Given the description of an element on the screen output the (x, y) to click on. 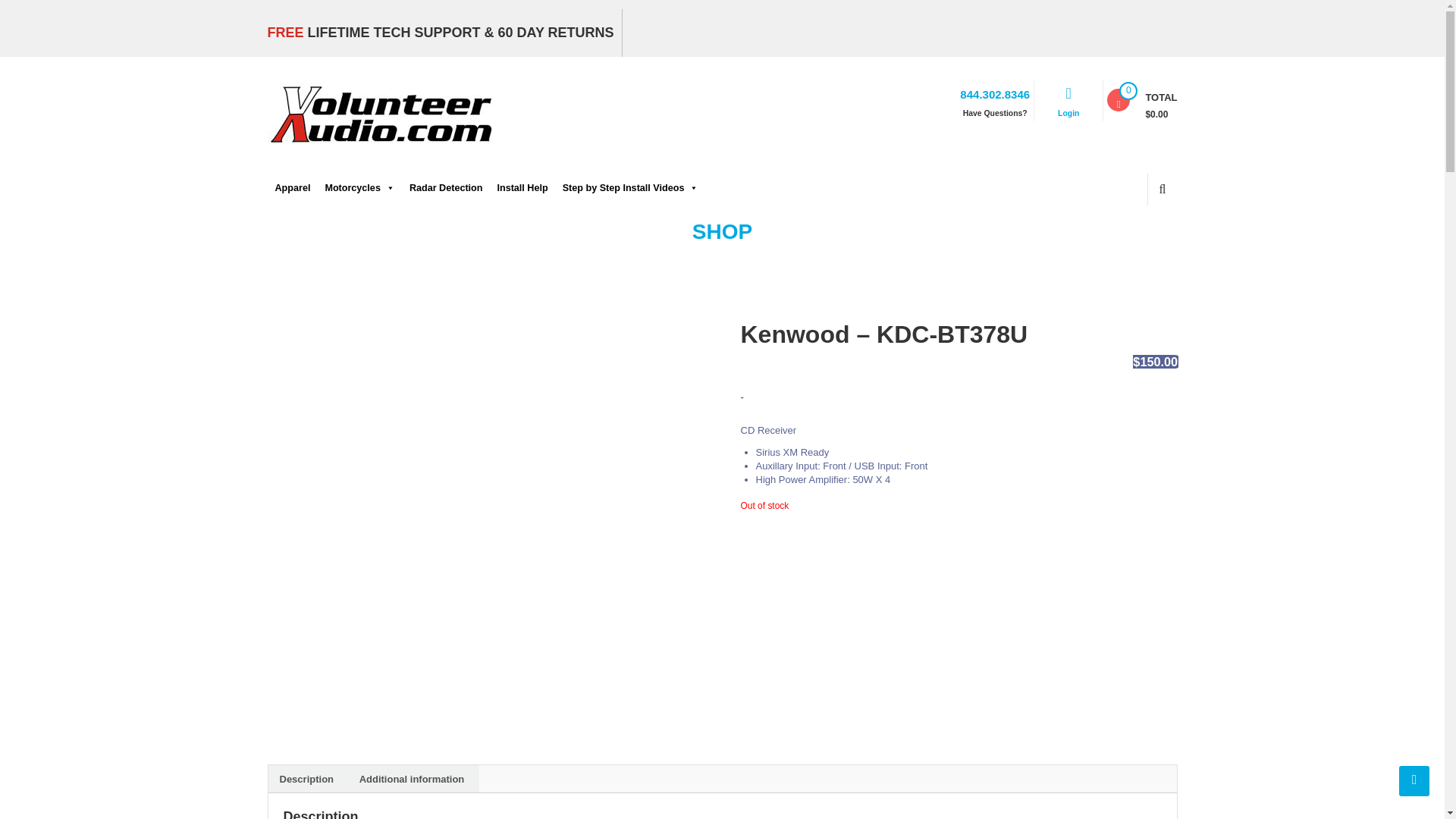
Step by Step Install Videos (628, 187)
         Login          (1068, 122)
Radar Detection (444, 187)
Motorcycles (357, 187)
844.302.8346 (994, 93)
Install Help (520, 187)
Apparel (290, 187)
Search (1150, 240)
0 (1117, 99)
